Given the description of an element on the screen output the (x, y) to click on. 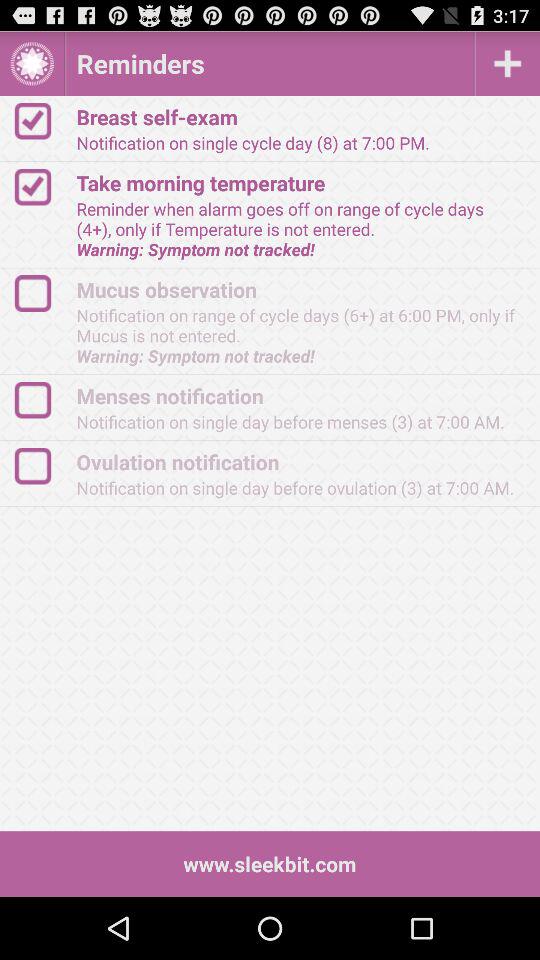
click to the check option (41, 186)
